Given the description of an element on the screen output the (x, y) to click on. 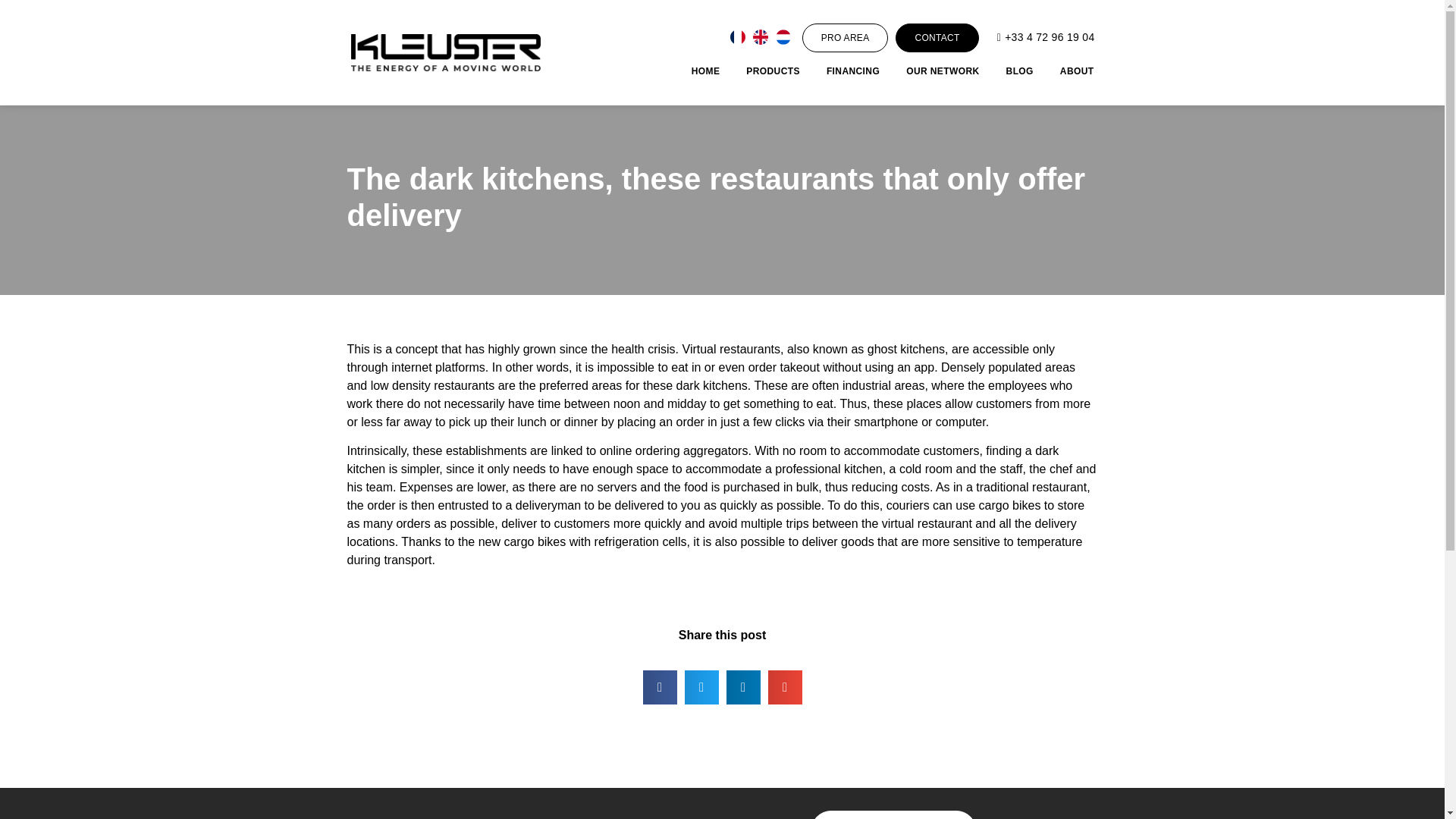
PRO AREA (845, 36)
PRODUCTS (772, 70)
CONTACT (936, 36)
OUR NETWORK (941, 70)
FINANCING (853, 70)
BLOG (1019, 70)
ABOUT (1076, 70)
HOME (705, 70)
CONTACT US (893, 814)
